Given the description of an element on the screen output the (x, y) to click on. 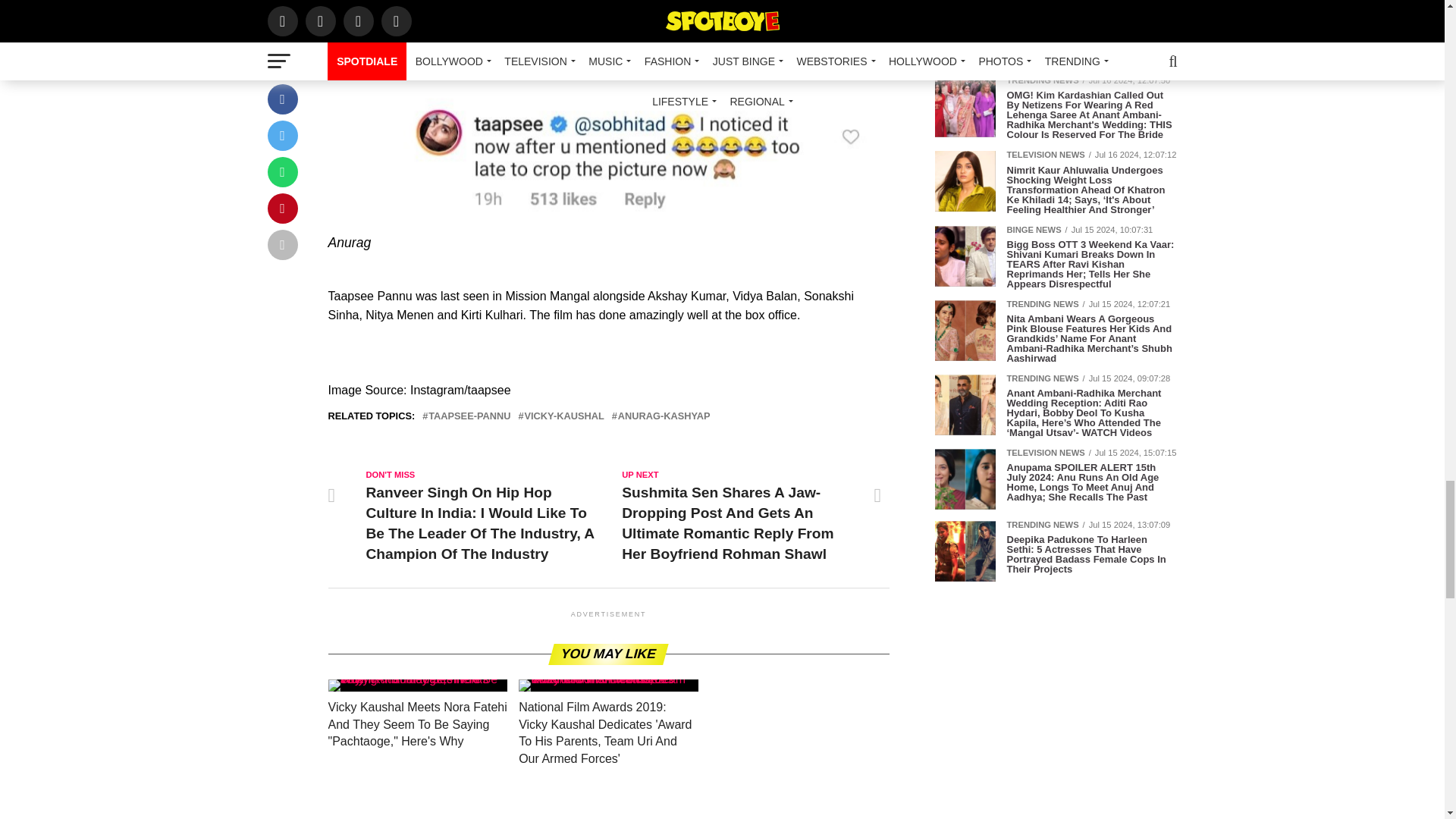
Anurag (607, 113)
